Given the description of an element on the screen output the (x, y) to click on. 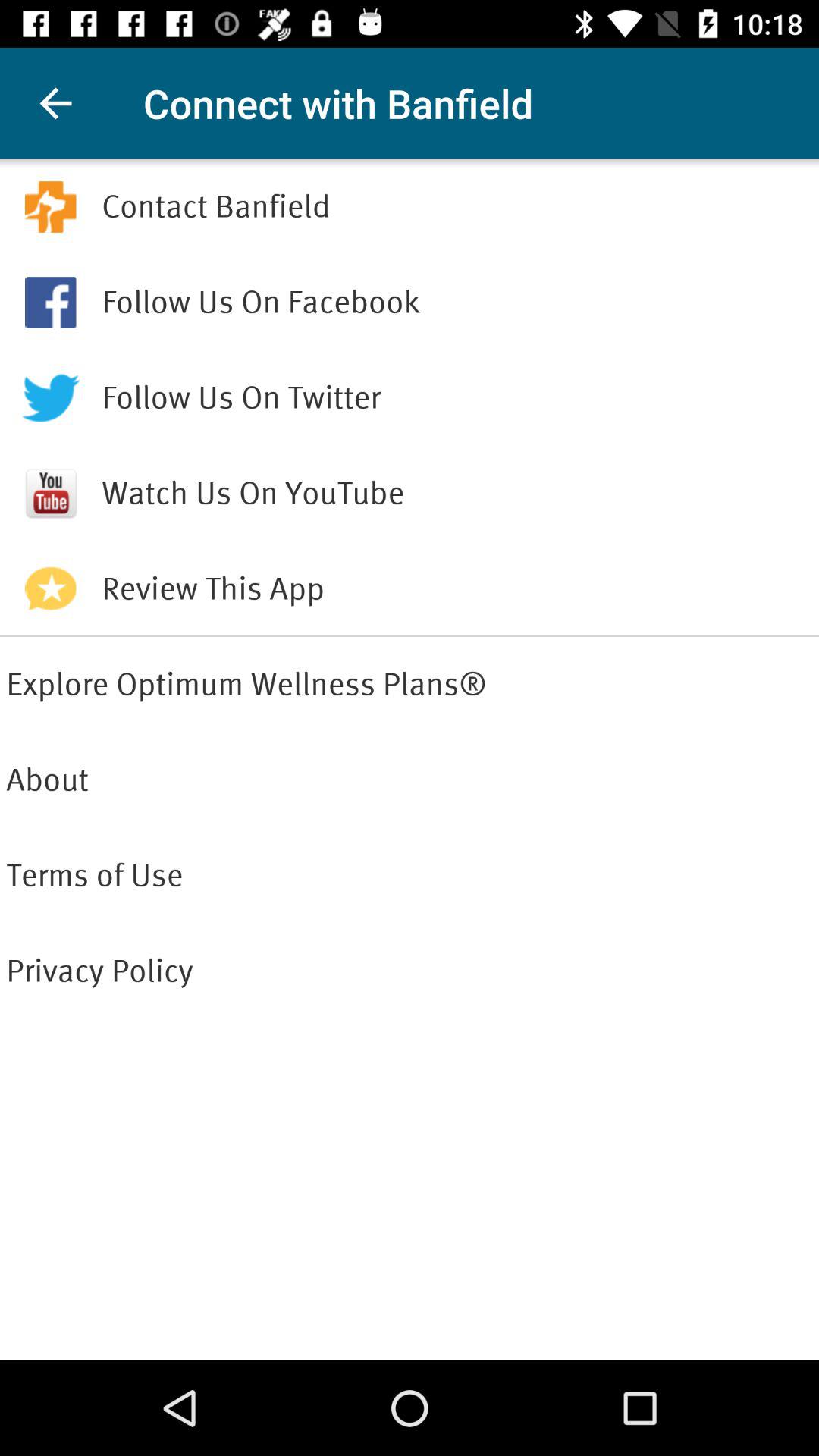
press the item above about (409, 684)
